Given the description of an element on the screen output the (x, y) to click on. 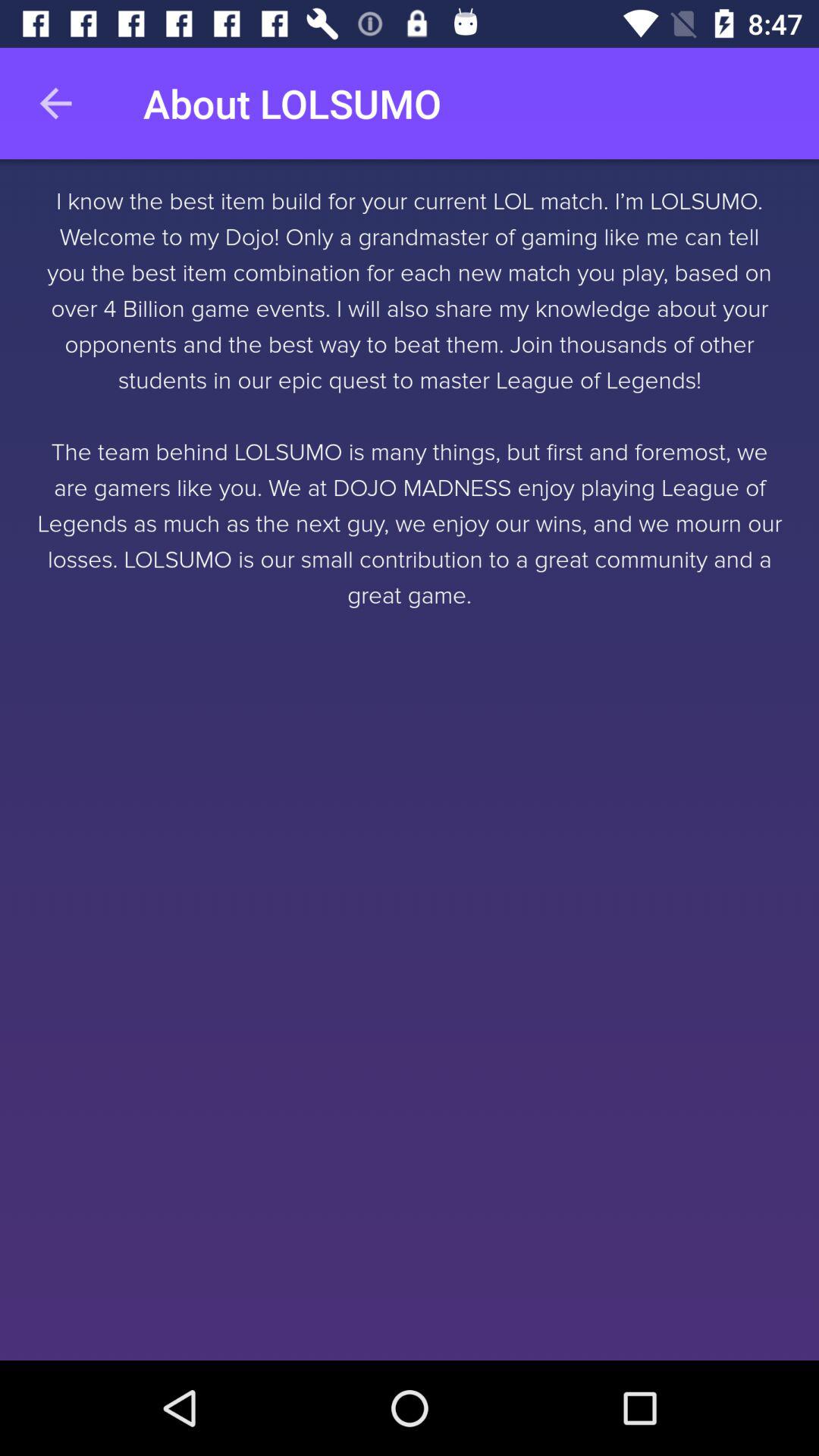
tap the item to the left of the about lolsumo item (55, 103)
